Given the description of an element on the screen output the (x, y) to click on. 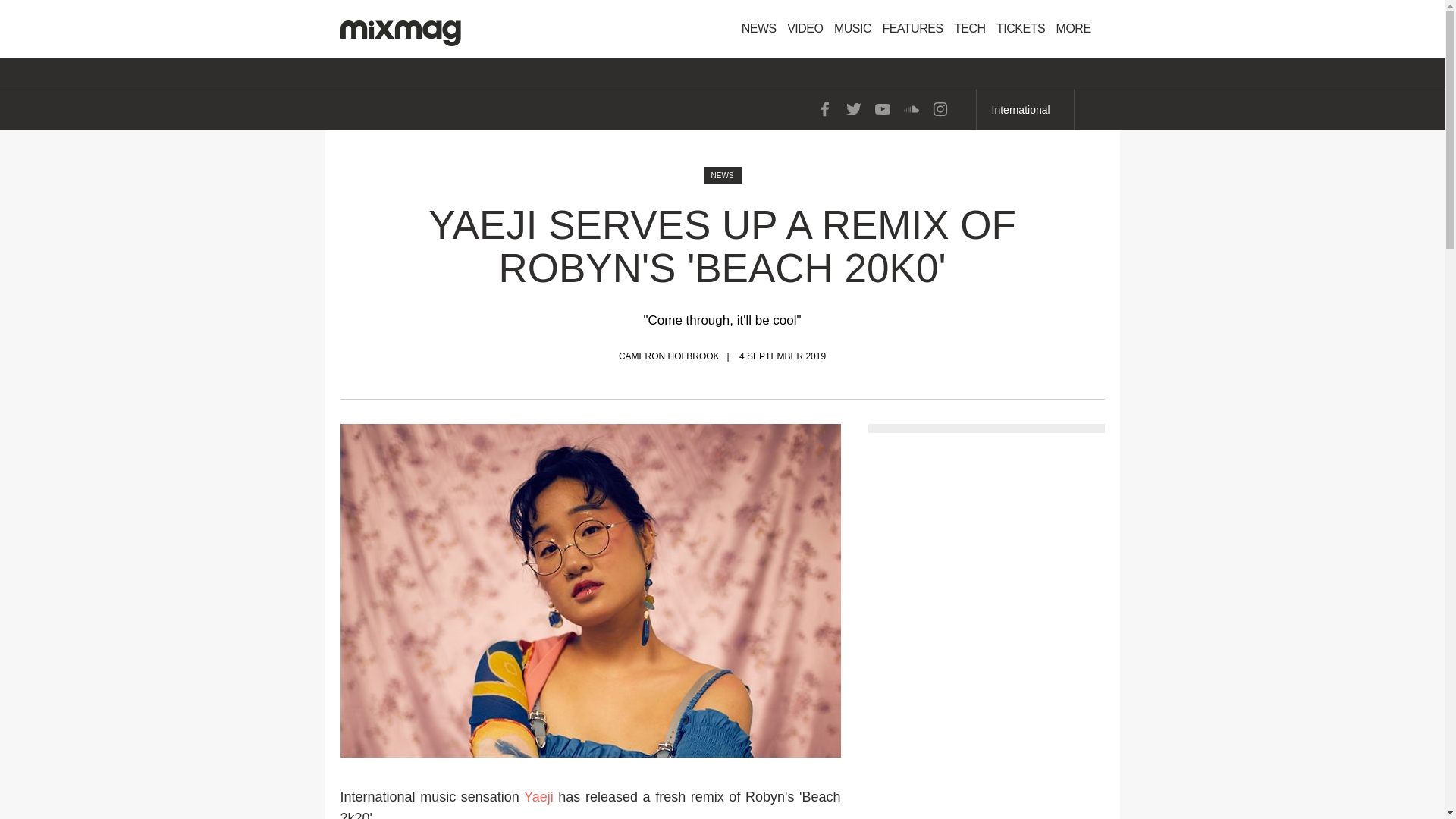
MORE (1078, 28)
TICKETS (1020, 28)
FEATURES (911, 28)
